Given the description of an element on the screen output the (x, y) to click on. 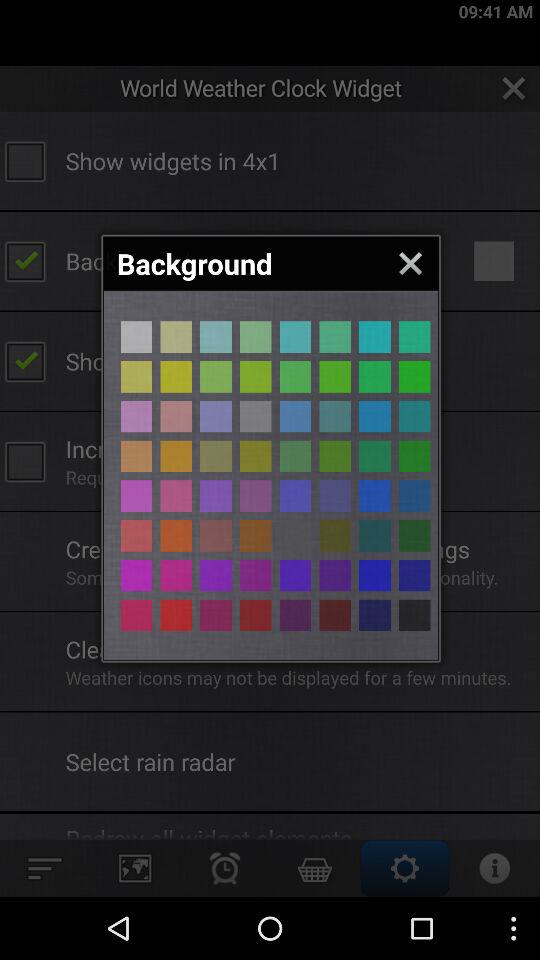
color selection (374, 456)
